Given the description of an element on the screen output the (x, y) to click on. 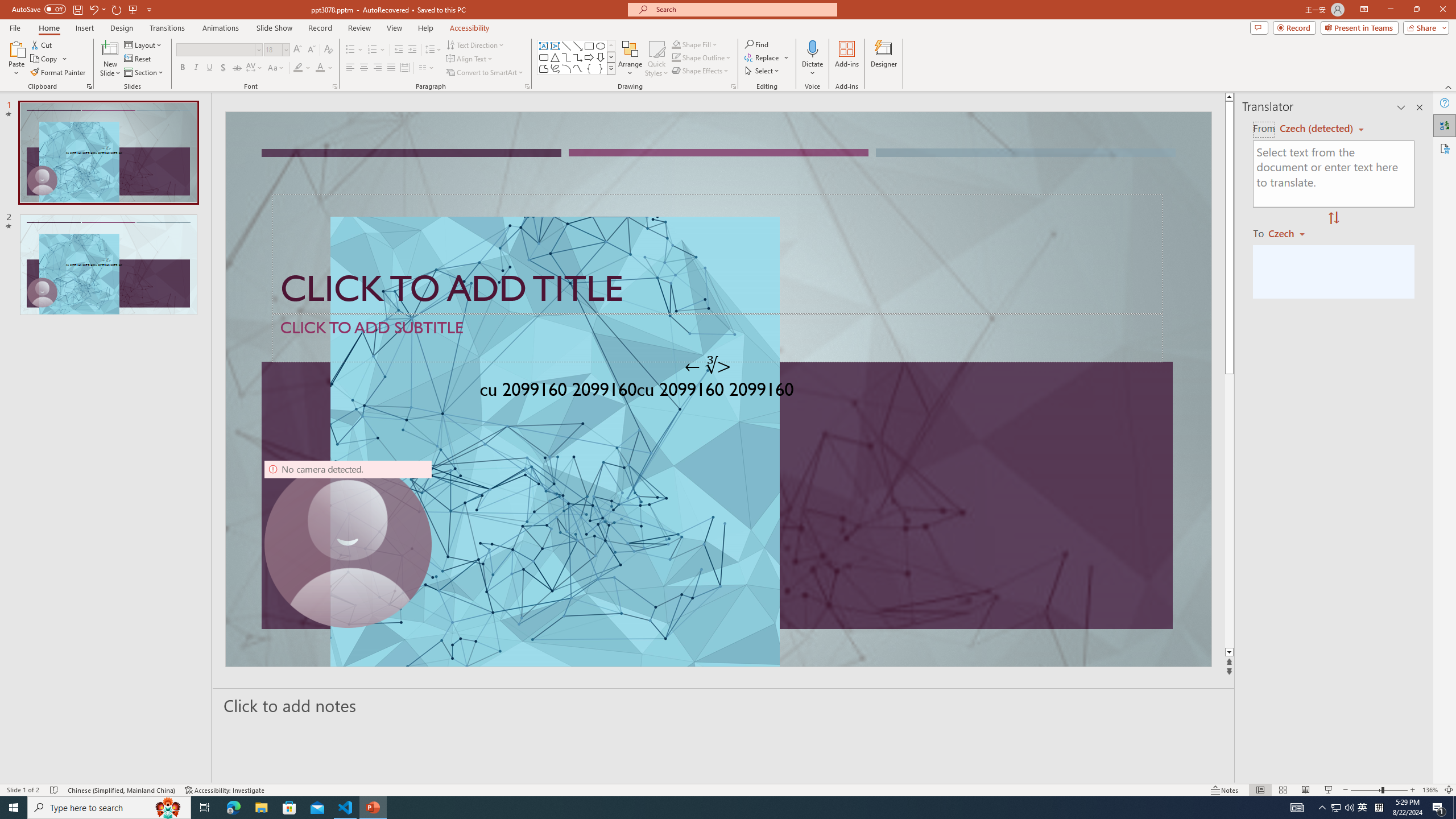
Format Object... (733, 85)
Numbering (376, 49)
Page down (1229, 511)
Line Spacing (433, 49)
Distributed (404, 67)
Center (363, 67)
Rectangle (589, 45)
Swap "from" and "to" languages. (1333, 218)
Align Text (470, 58)
